Given the description of an element on the screen output the (x, y) to click on. 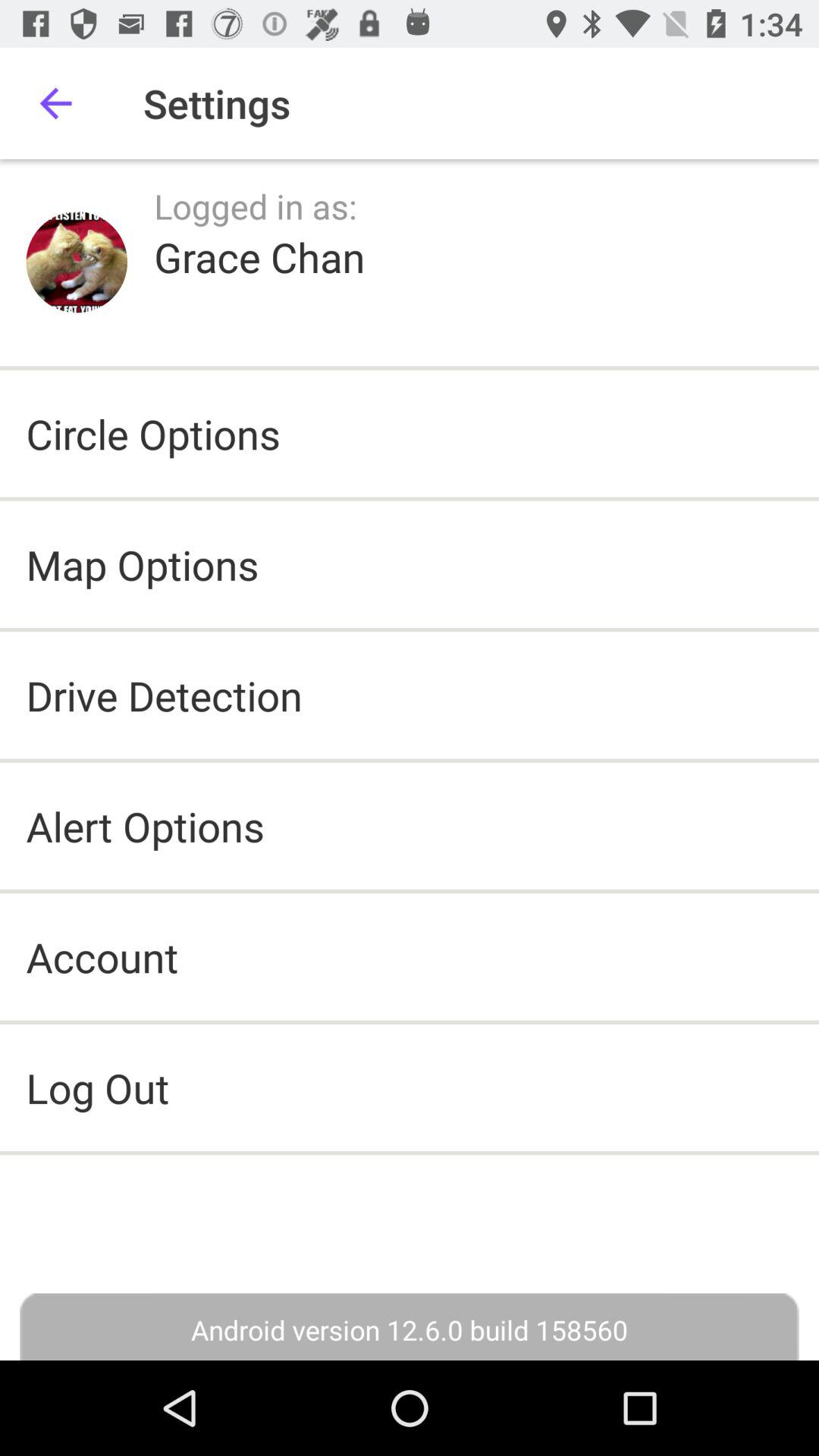
choose icon above circle options icon (76, 262)
